Given the description of an element on the screen output the (x, y) to click on. 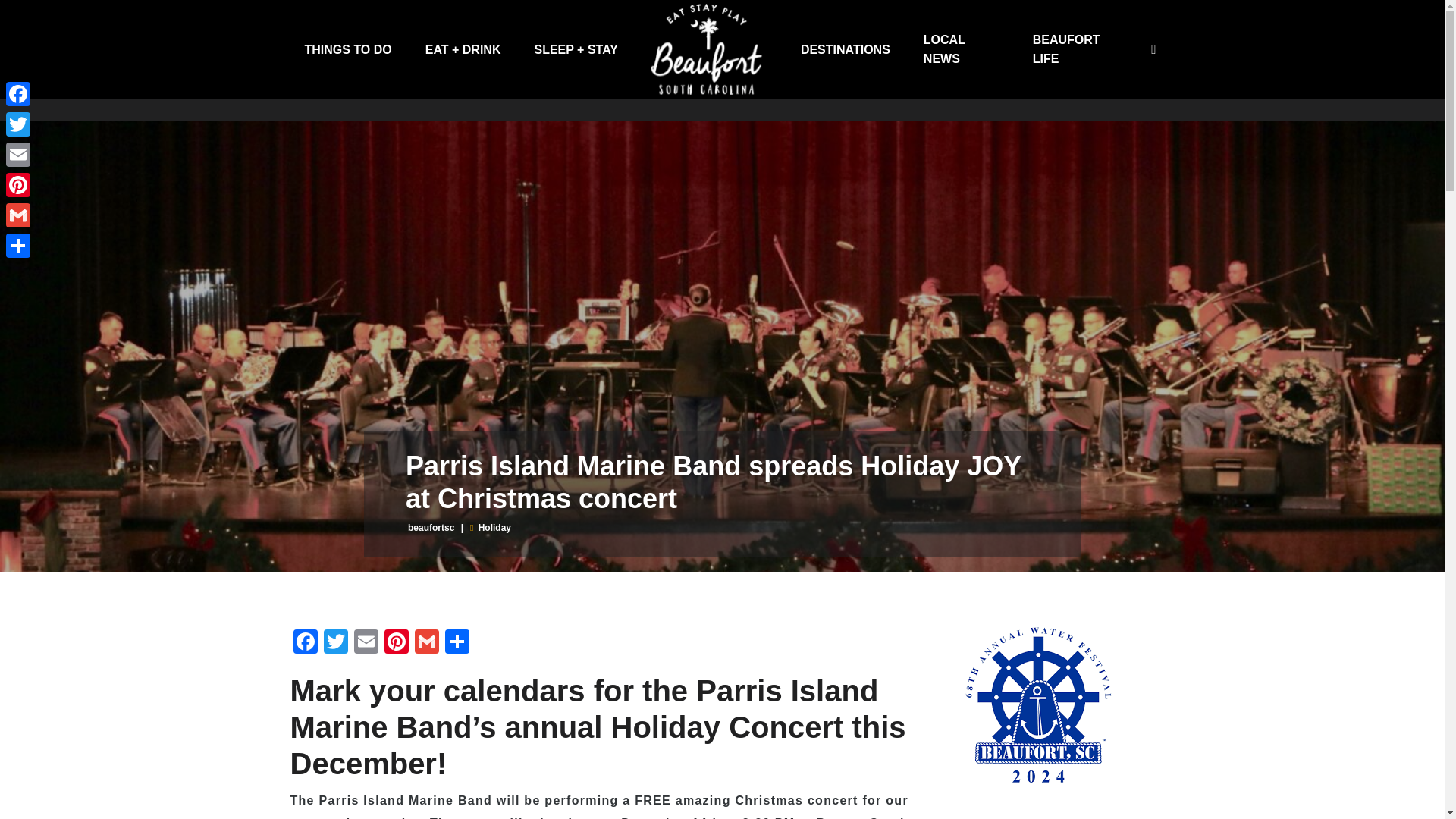
Email (17, 154)
Pinterest (17, 184)
Facebook (304, 643)
Facebook (17, 93)
Pinterest (395, 643)
Twitter (335, 643)
Twitter (17, 123)
Gmail (425, 643)
DESTINATIONS (844, 48)
Gmail (17, 214)
Email (365, 643)
THINGS TO DO (347, 48)
